Given the description of an element on the screen output the (x, y) to click on. 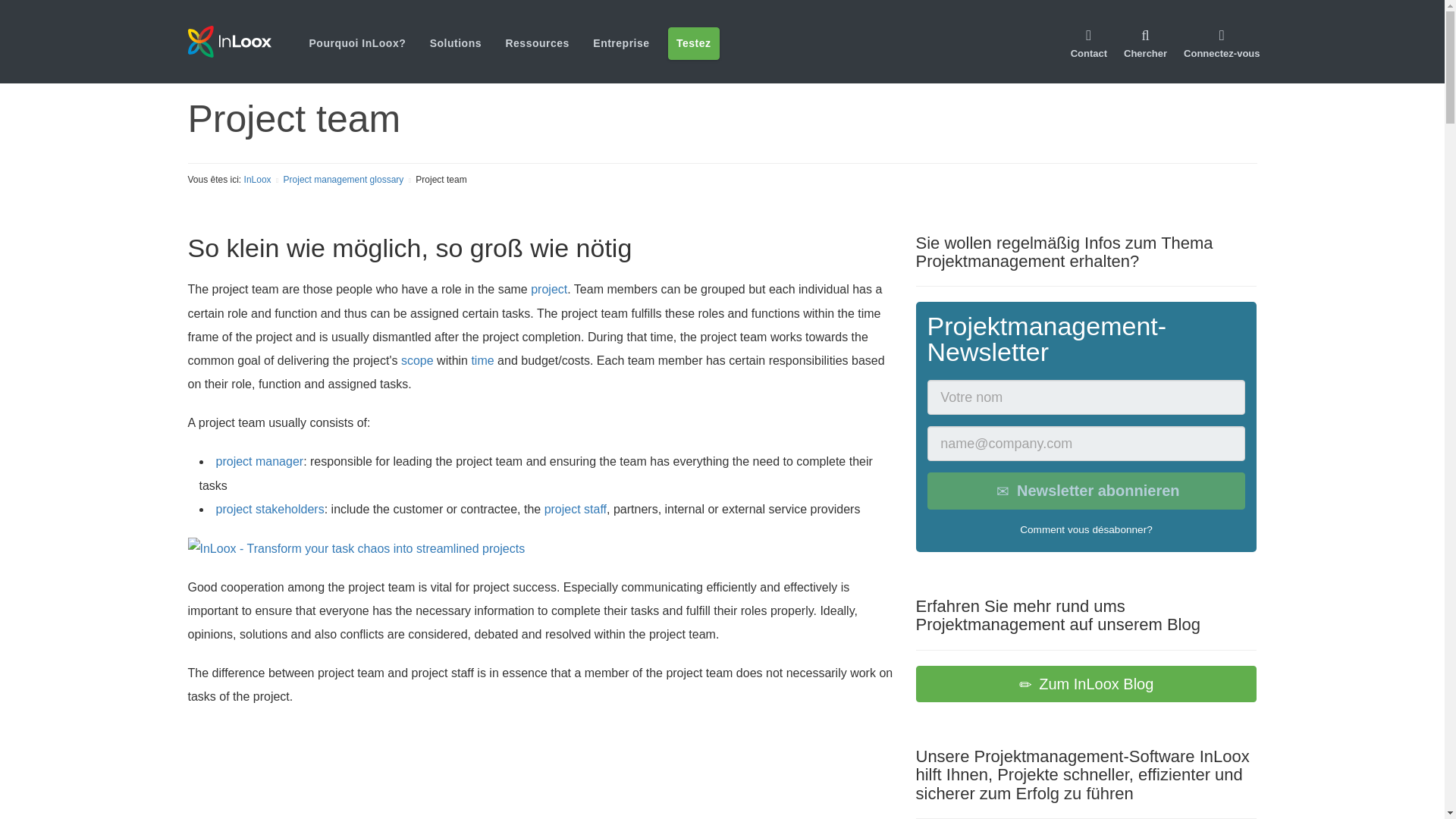
Pourquoi InLoox? (357, 42)
InLoox (228, 41)
InLoox (247, 41)
